Given the description of an element on the screen output the (x, y) to click on. 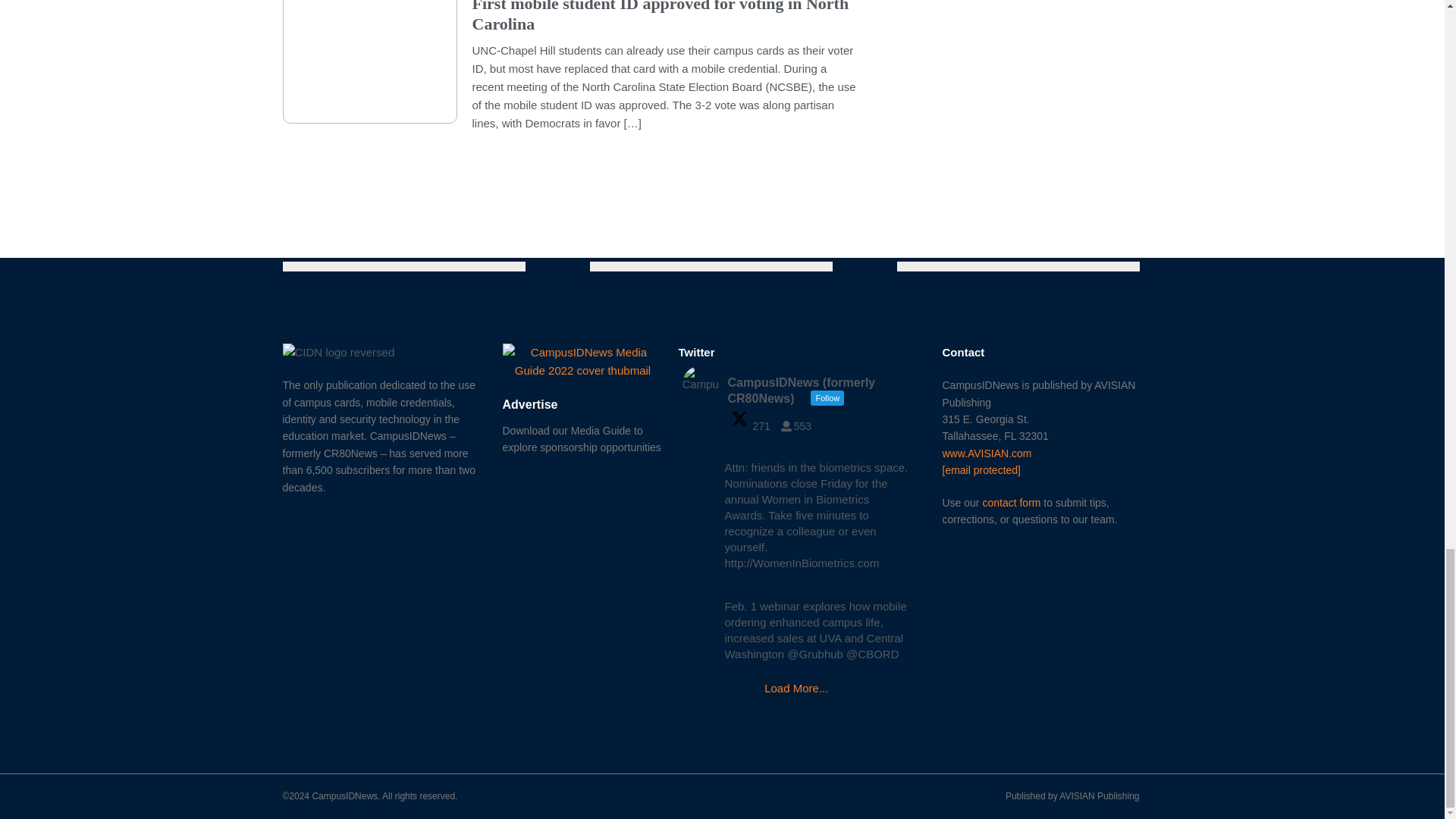
271 Posts (754, 426)
553 Followers (799, 426)
